Given the description of an element on the screen output the (x, y) to click on. 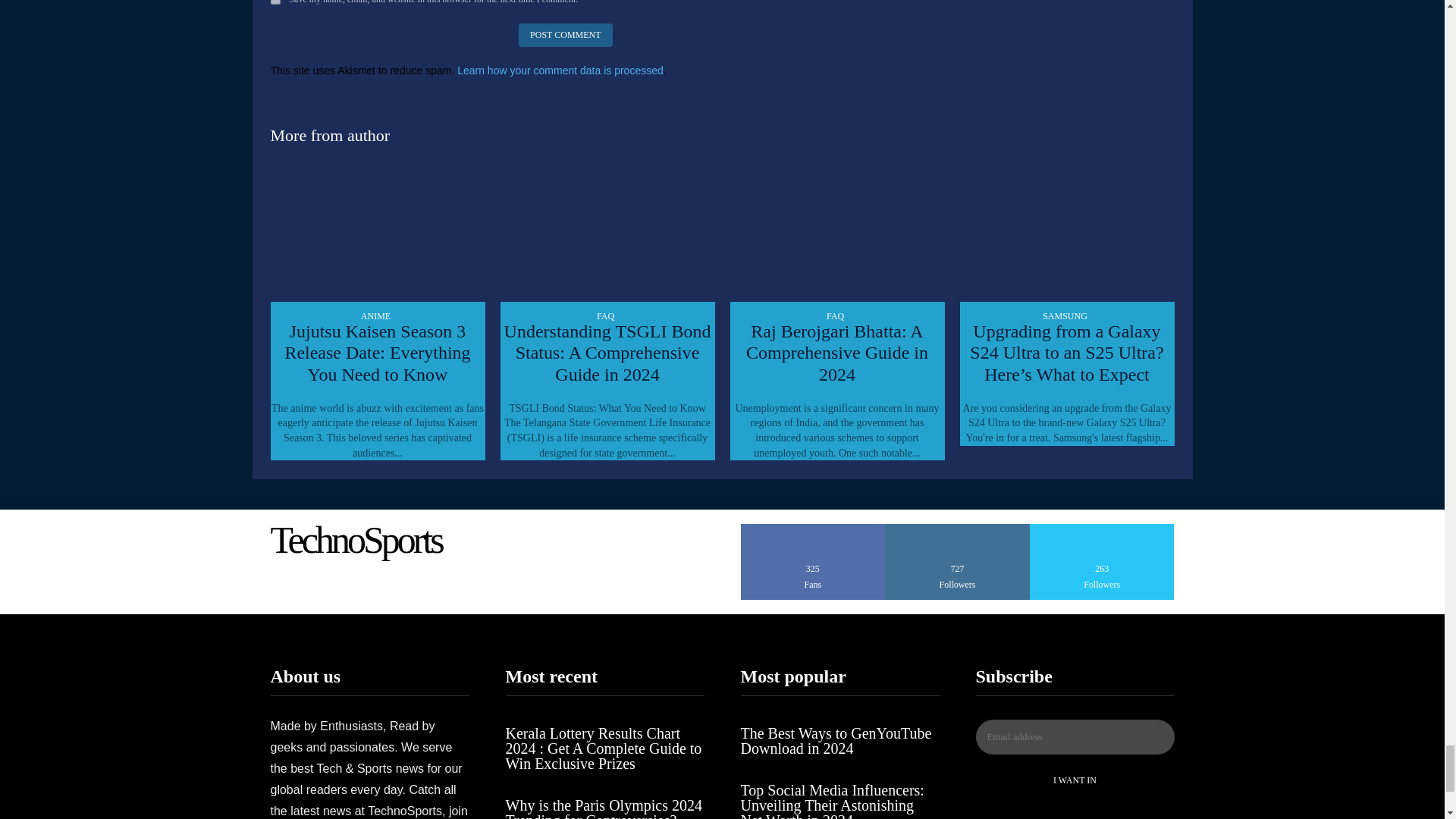
Post Comment (564, 34)
yes (274, 2)
